Given the description of an element on the screen output the (x, y) to click on. 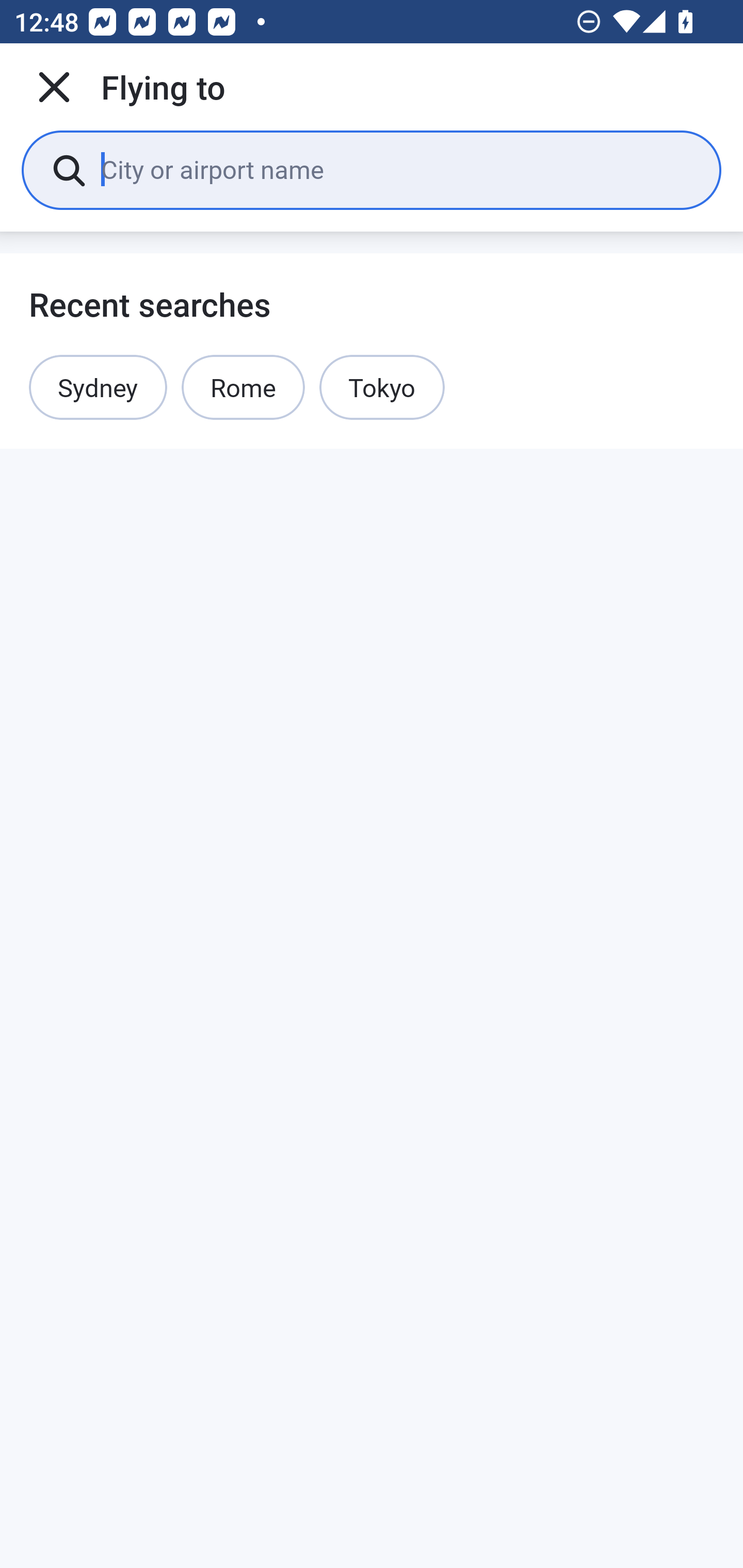
City or airport name (396, 169)
Sydney (97, 387)
Rome (242, 387)
Tokyo (382, 387)
